Given the description of an element on the screen output the (x, y) to click on. 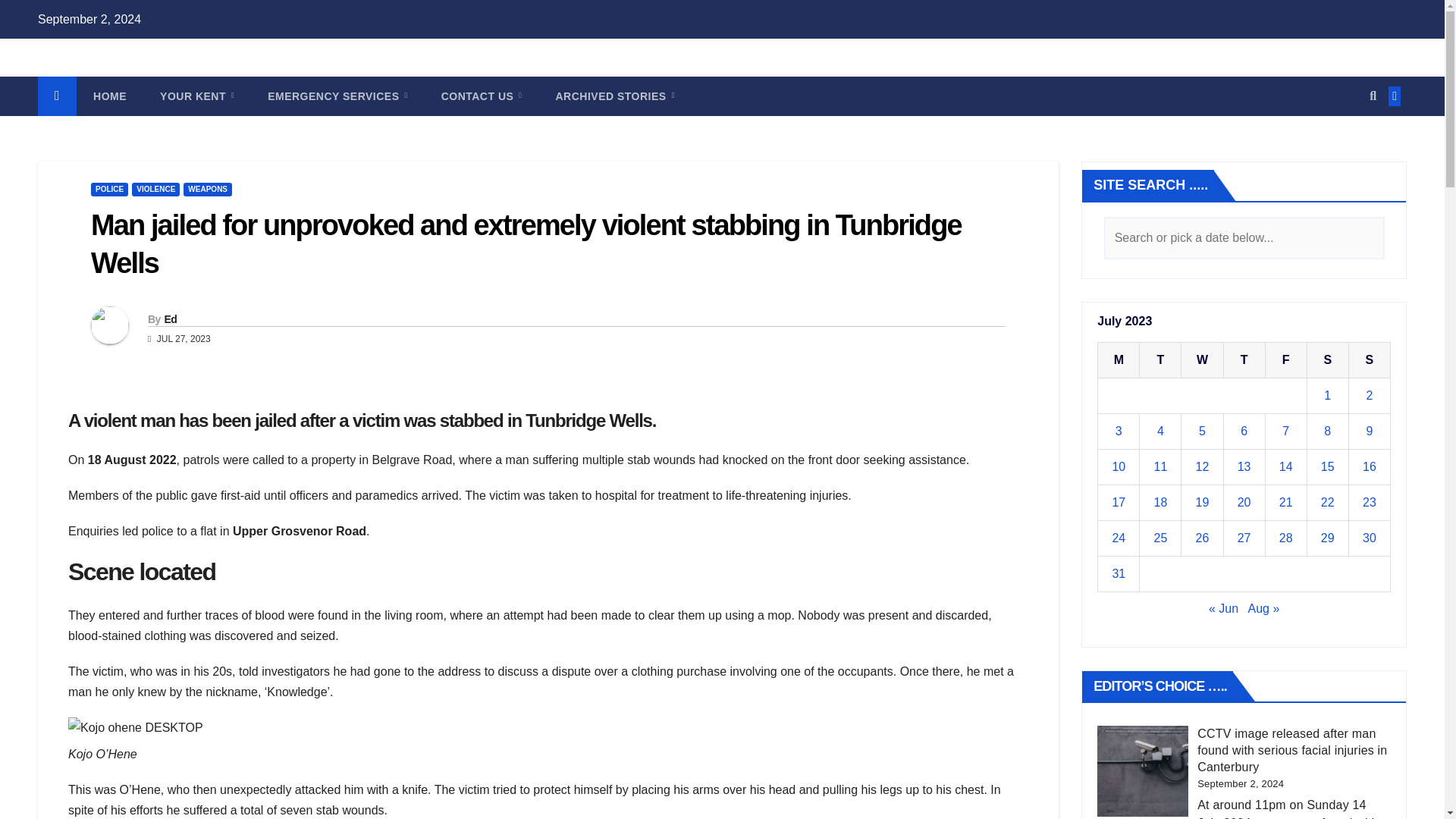
HOME (109, 96)
YOUR KENT (196, 96)
HOME (109, 96)
YOUR KENT (196, 96)
